Given the description of an element on the screen output the (x, y) to click on. 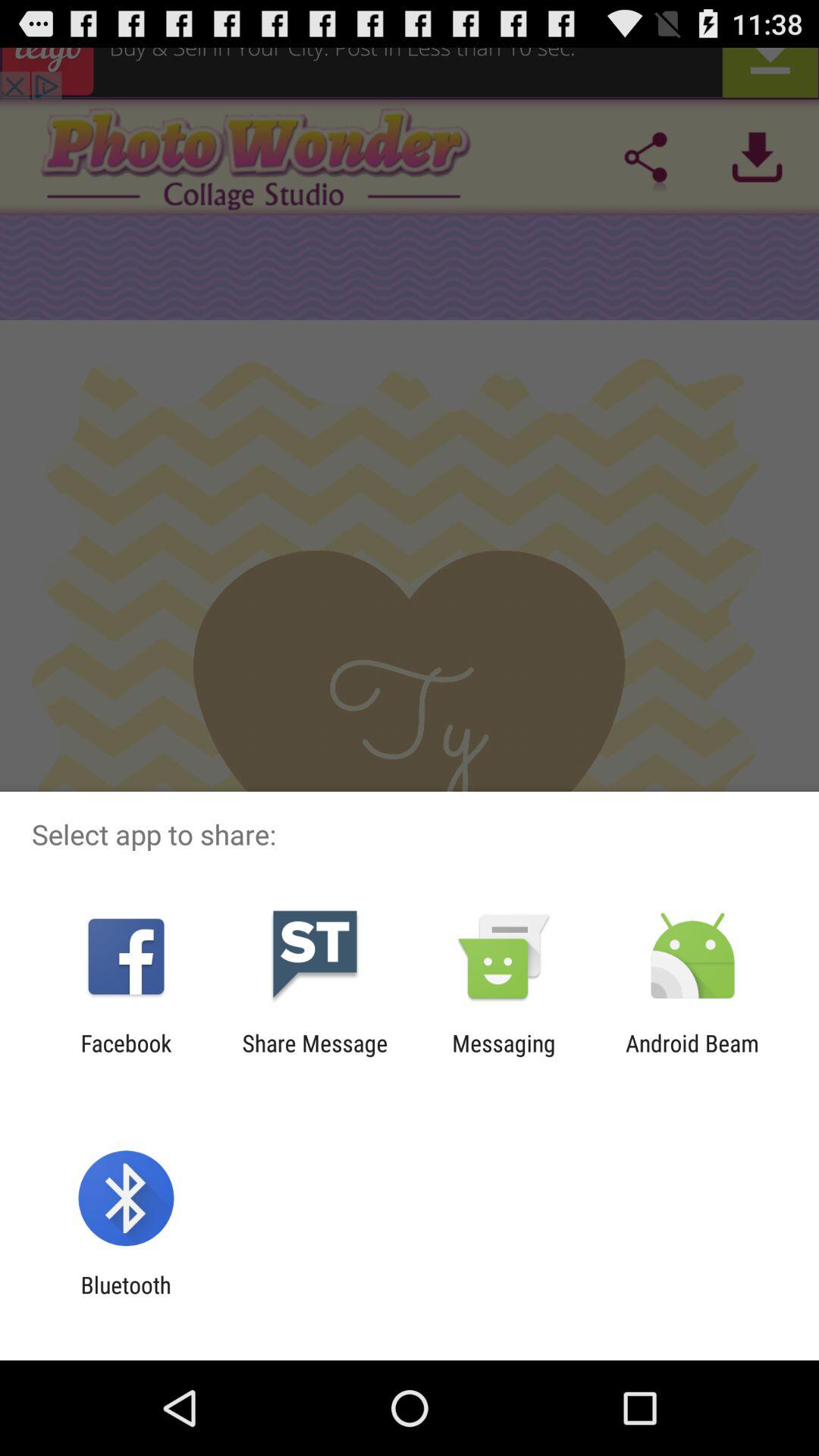
click app to the left of the messaging app (314, 1056)
